Given the description of an element on the screen output the (x, y) to click on. 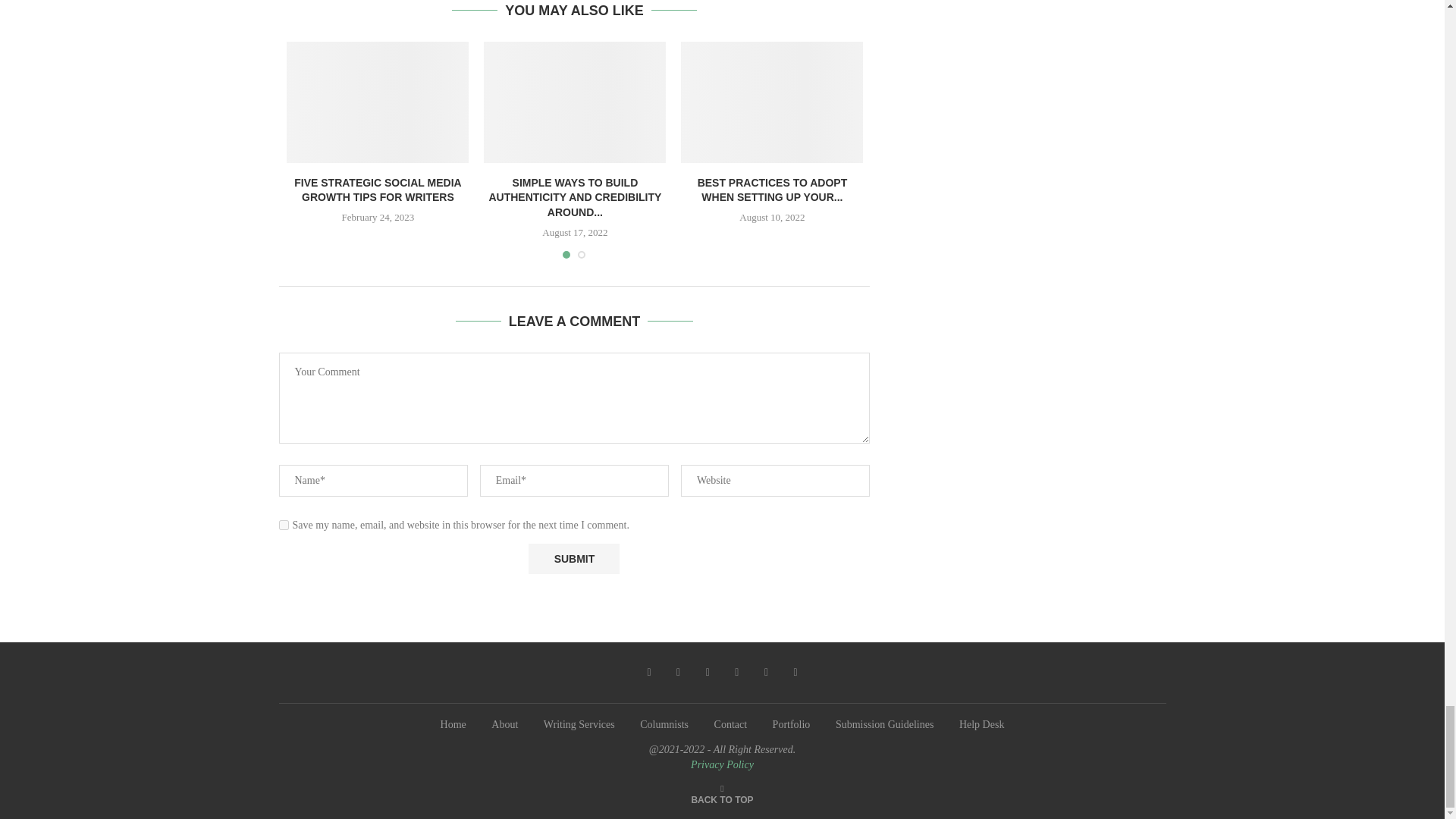
Submit (574, 558)
yes (283, 524)
Five Strategic Social Media Growth Tips for Writers (377, 101)
